Given the description of an element on the screen output the (x, y) to click on. 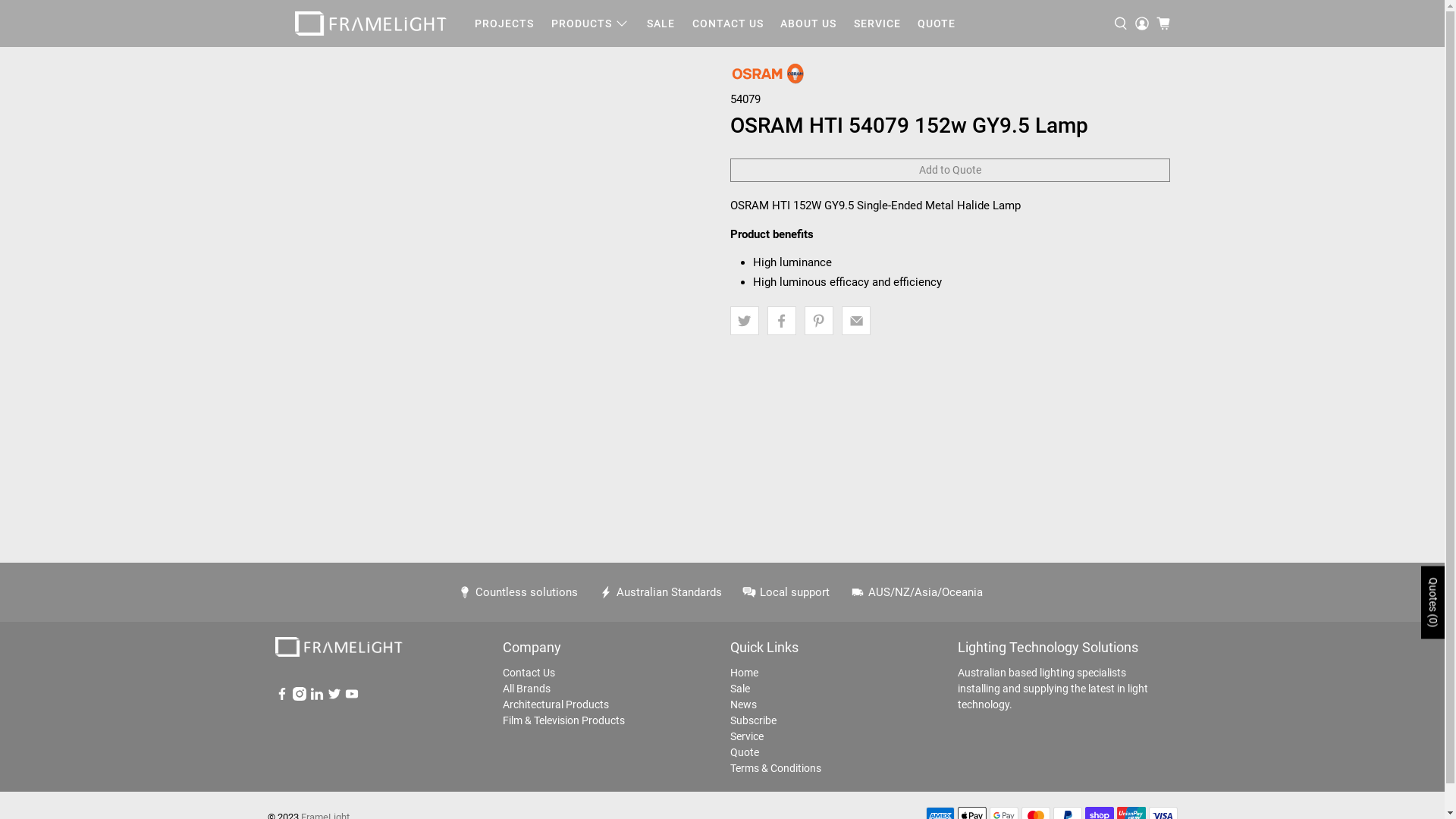
All Brands Element type: text (525, 688)
Add to Quote Element type: text (949, 170)
Architectural Products Element type: text (555, 703)
Share this on Pinterest Element type: hover (818, 320)
FrameLight on Instagram Element type: hover (299, 696)
FrameLight on YouTube Element type: hover (350, 696)
SALE Element type: text (661, 23)
FrameLight on Facebook Element type: hover (281, 696)
Contact Us Element type: text (528, 671)
FrameLight Element type: hover (337, 654)
Sale Element type: text (739, 688)
PROJECTS Element type: text (504, 23)
FrameLight Element type: hover (370, 23)
ABOUT US Element type: text (808, 23)
Home Element type: text (743, 671)
FrameLight on LinkedIn Element type: hover (316, 696)
Film & Television Products Element type: text (563, 720)
QUOTE Element type: text (936, 23)
Quote Element type: text (743, 752)
CONTACT US Element type: text (727, 23)
Terms & Conditions Element type: text (774, 767)
Share this on Facebook Element type: hover (781, 320)
PRODUCTS Element type: text (590, 23)
Subscribe Element type: text (752, 720)
FrameLight on Twitter Element type: hover (334, 696)
Email this to a friend Element type: hover (855, 320)
SERVICE Element type: text (876, 23)
Share this on Twitter Element type: hover (743, 320)
Service Element type: text (745, 735)
News Element type: text (742, 703)
